Given the description of an element on the screen output the (x, y) to click on. 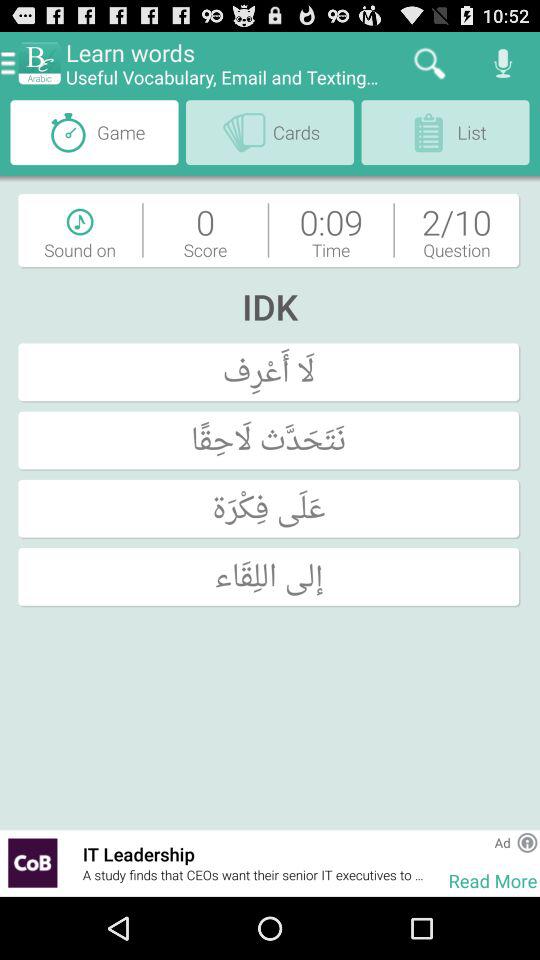
open the item next to ad app (467, 842)
